Given the description of an element on the screen output the (x, y) to click on. 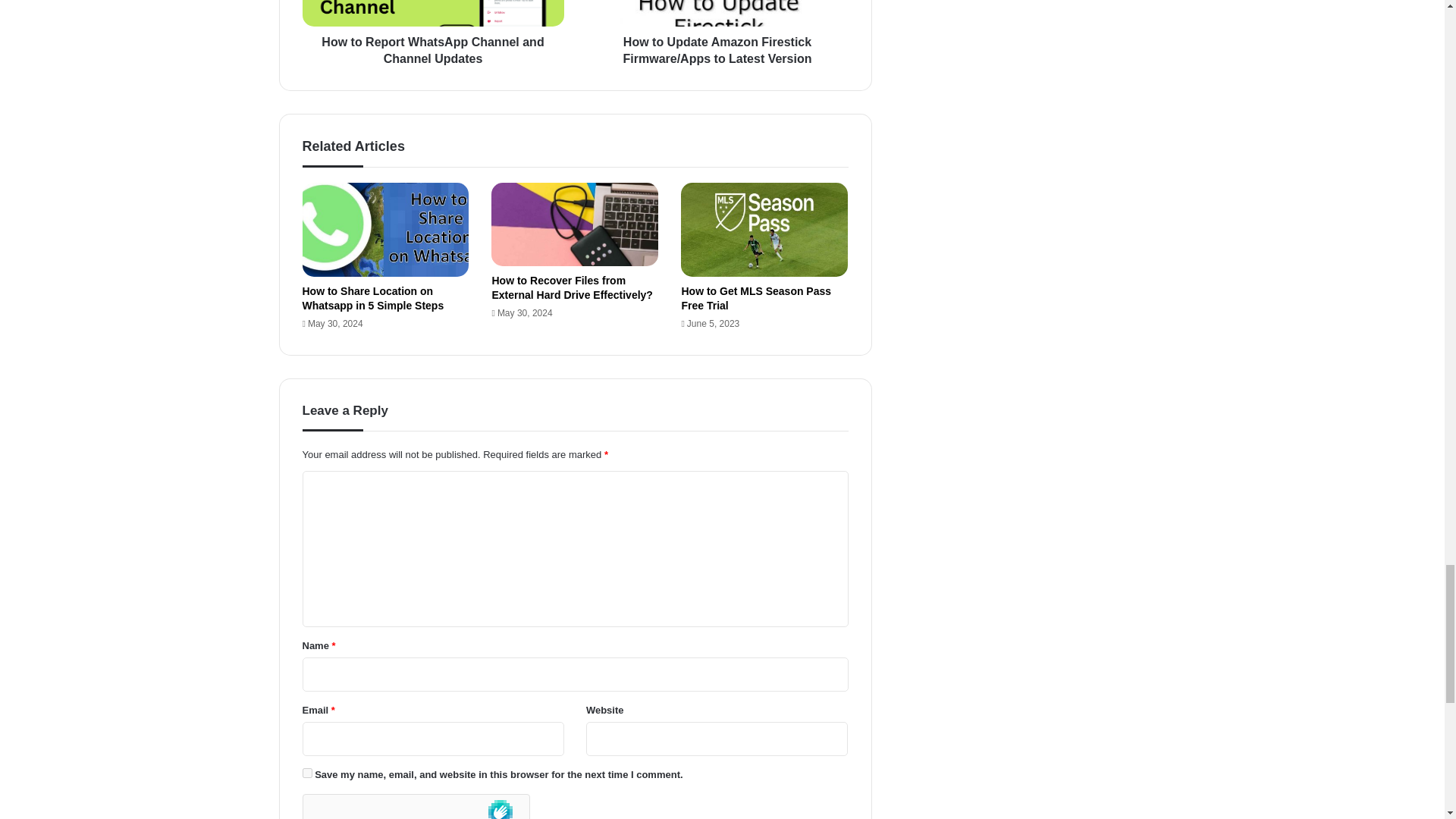
yes (306, 773)
